Given the description of an element on the screen output the (x, y) to click on. 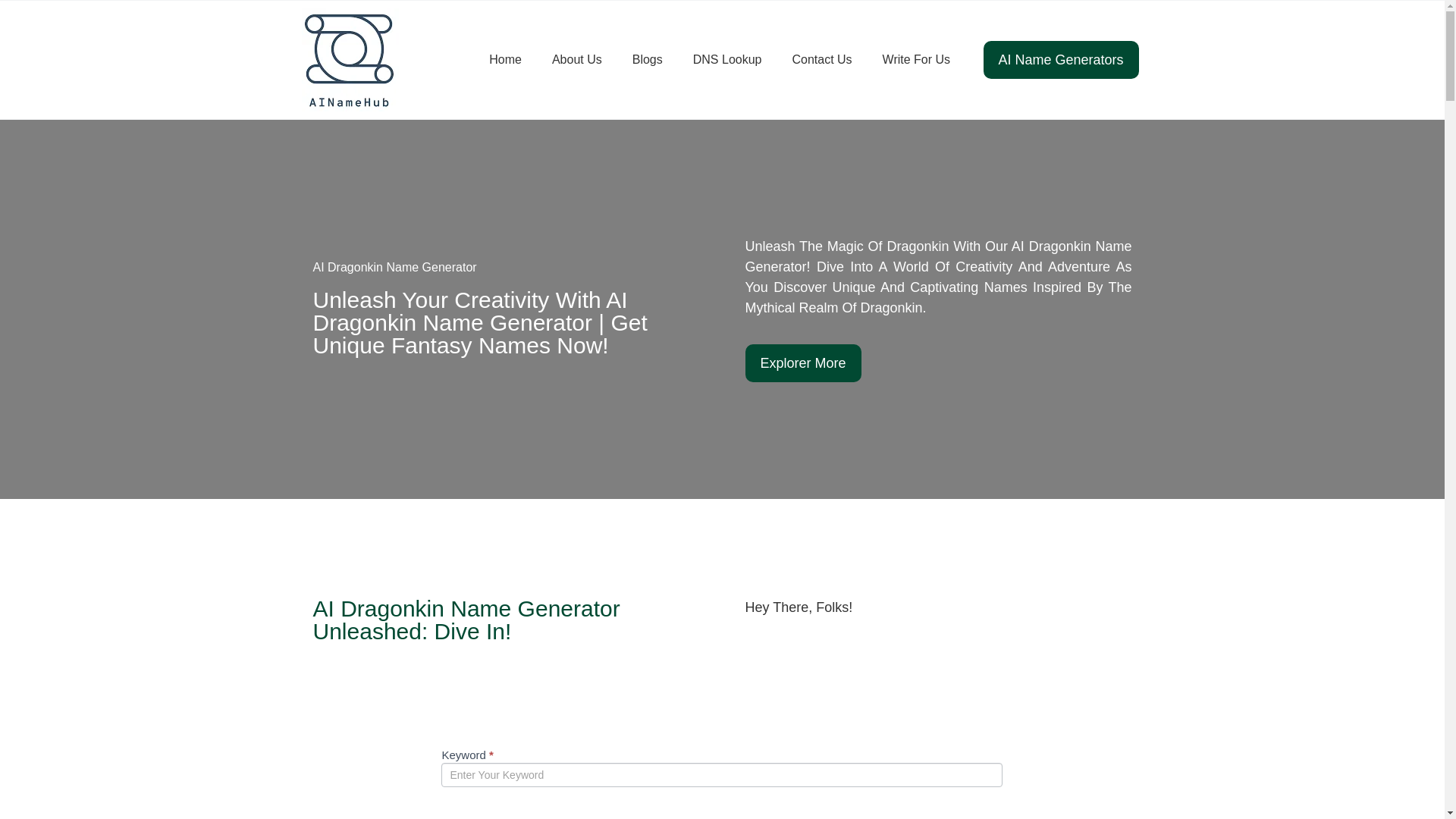
Write For Us (916, 59)
Contact Us (821, 59)
AI Name Generators (1129, 59)
Home (505, 59)
Blogs (647, 59)
Explorer More (834, 362)
About Us (577, 59)
DNS Lookup (727, 59)
